Given the description of an element on the screen output the (x, y) to click on. 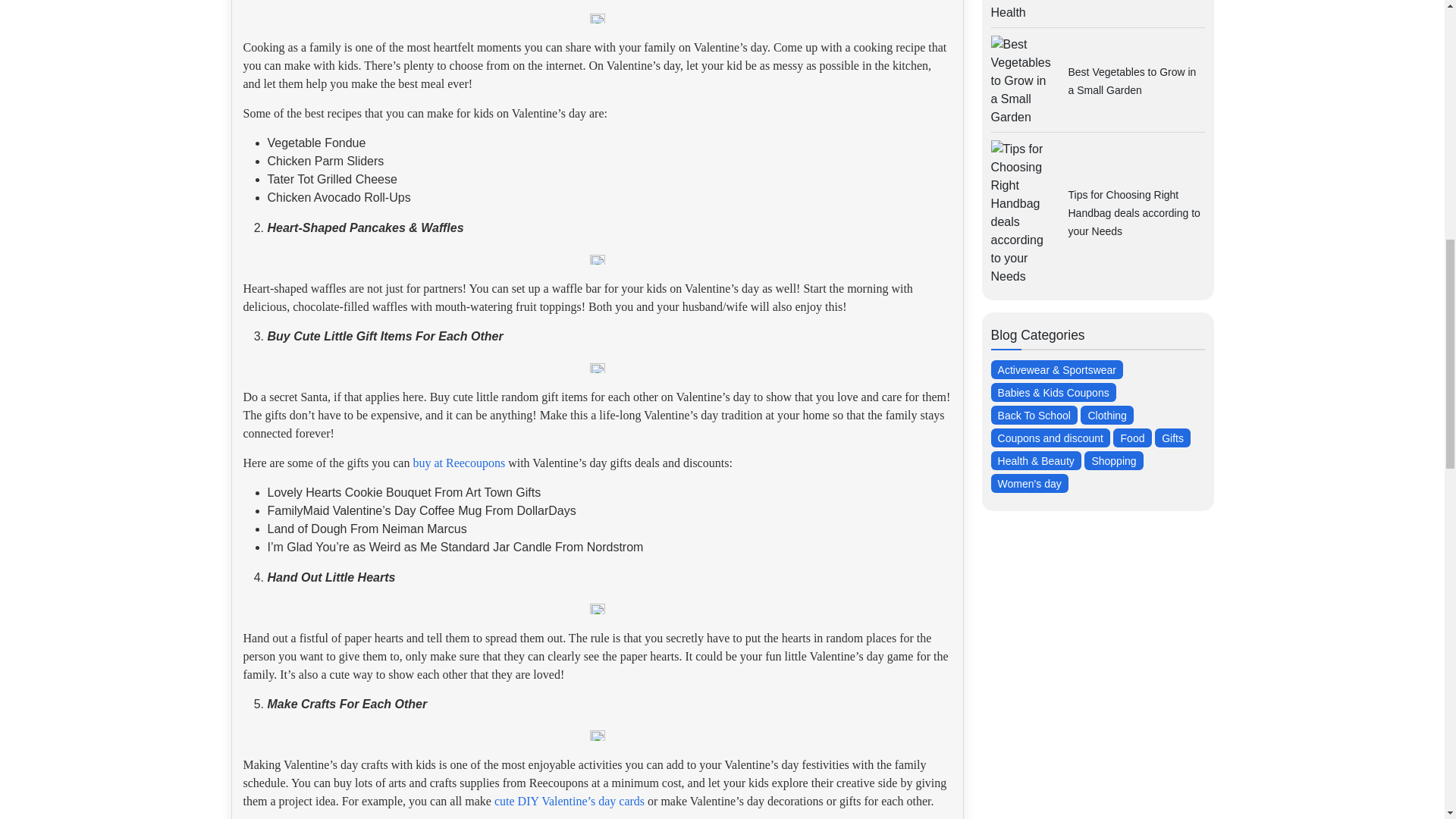
Best Vegetables to Grow in a Small Garden (1131, 81)
buy at Reecoupons (458, 462)
